Given the description of an element on the screen output the (x, y) to click on. 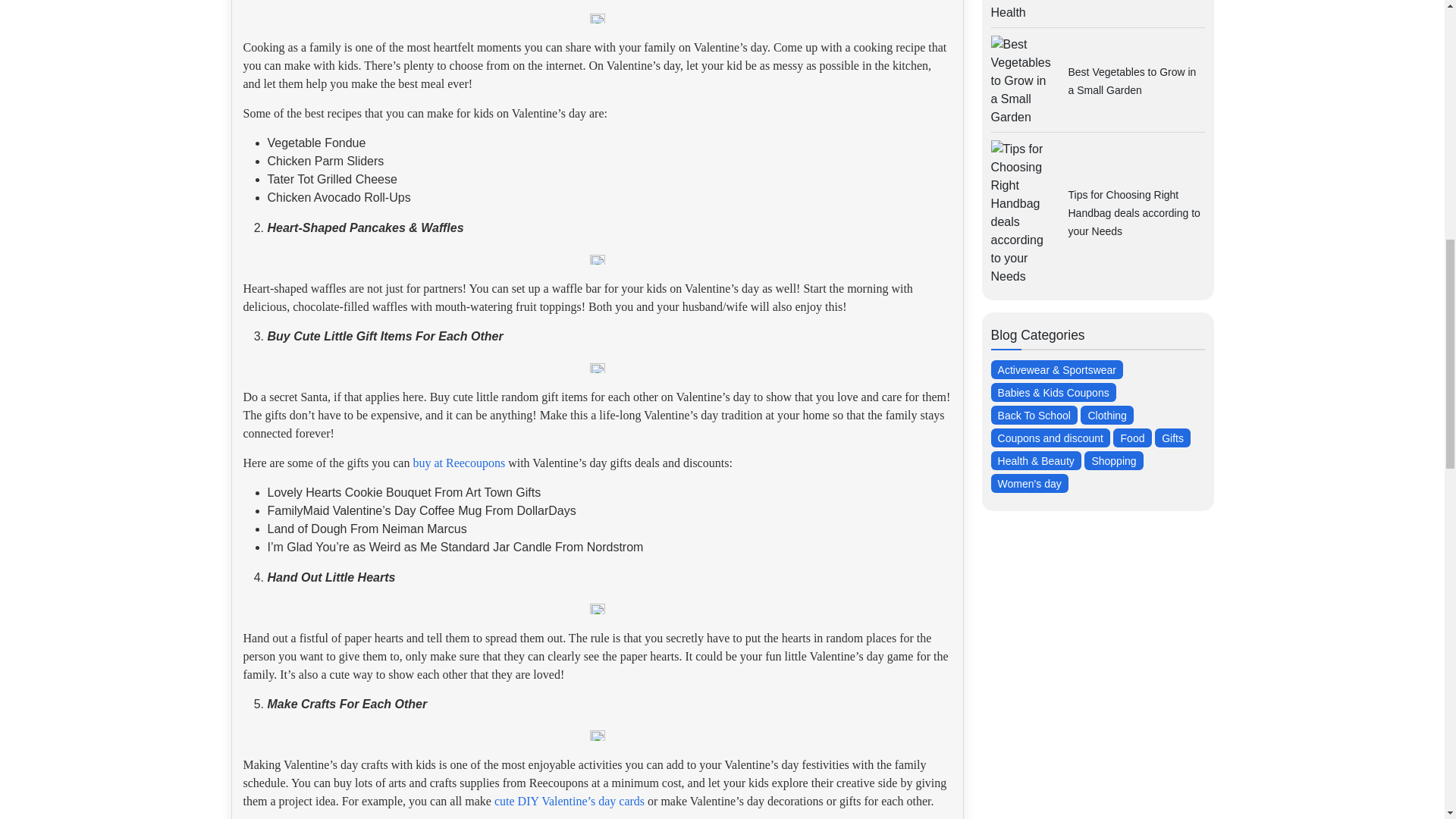
Best Vegetables to Grow in a Small Garden (1131, 81)
buy at Reecoupons (458, 462)
